Given the description of an element on the screen output the (x, y) to click on. 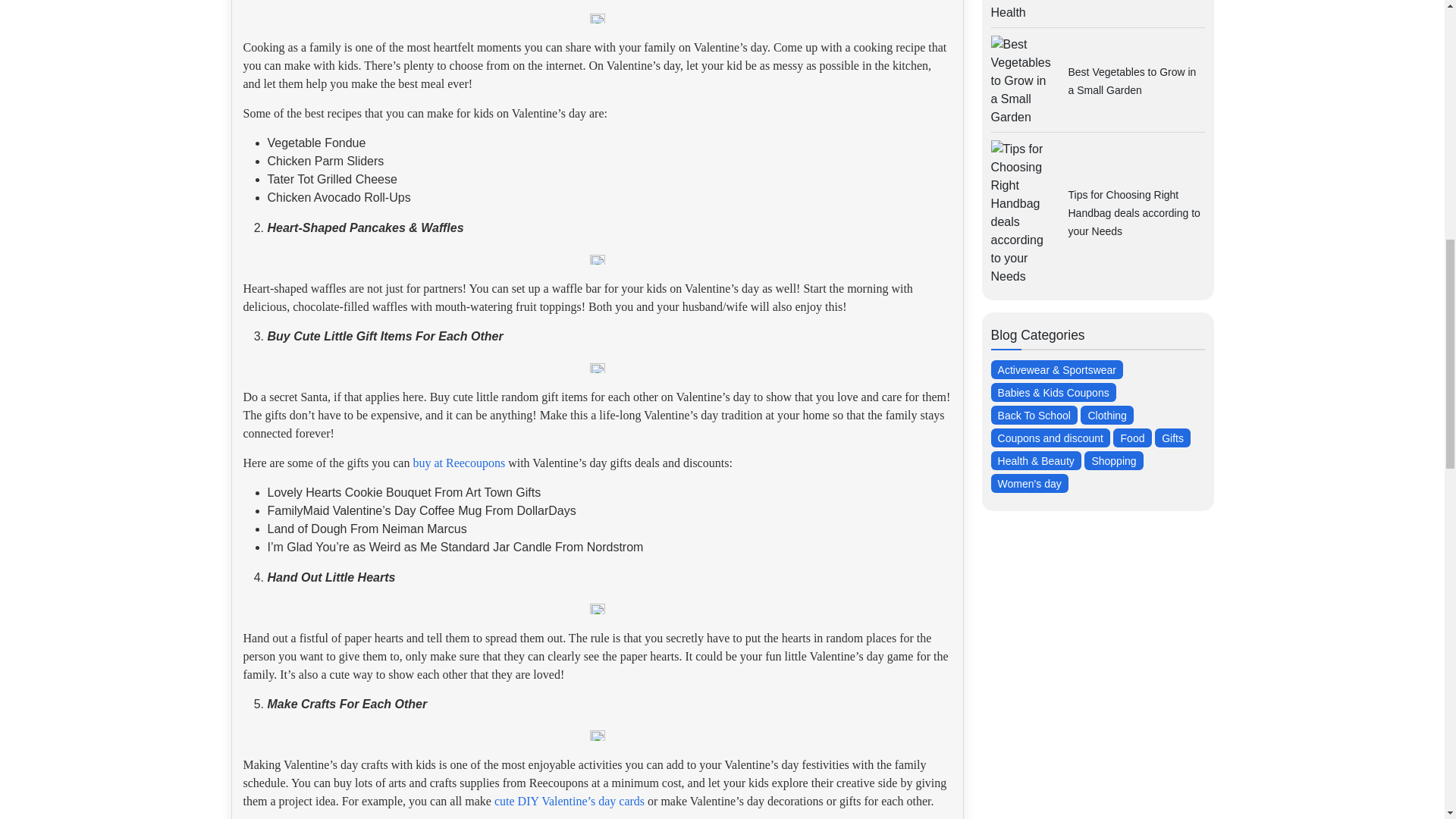
Best Vegetables to Grow in a Small Garden (1131, 81)
buy at Reecoupons (458, 462)
